Given the description of an element on the screen output the (x, y) to click on. 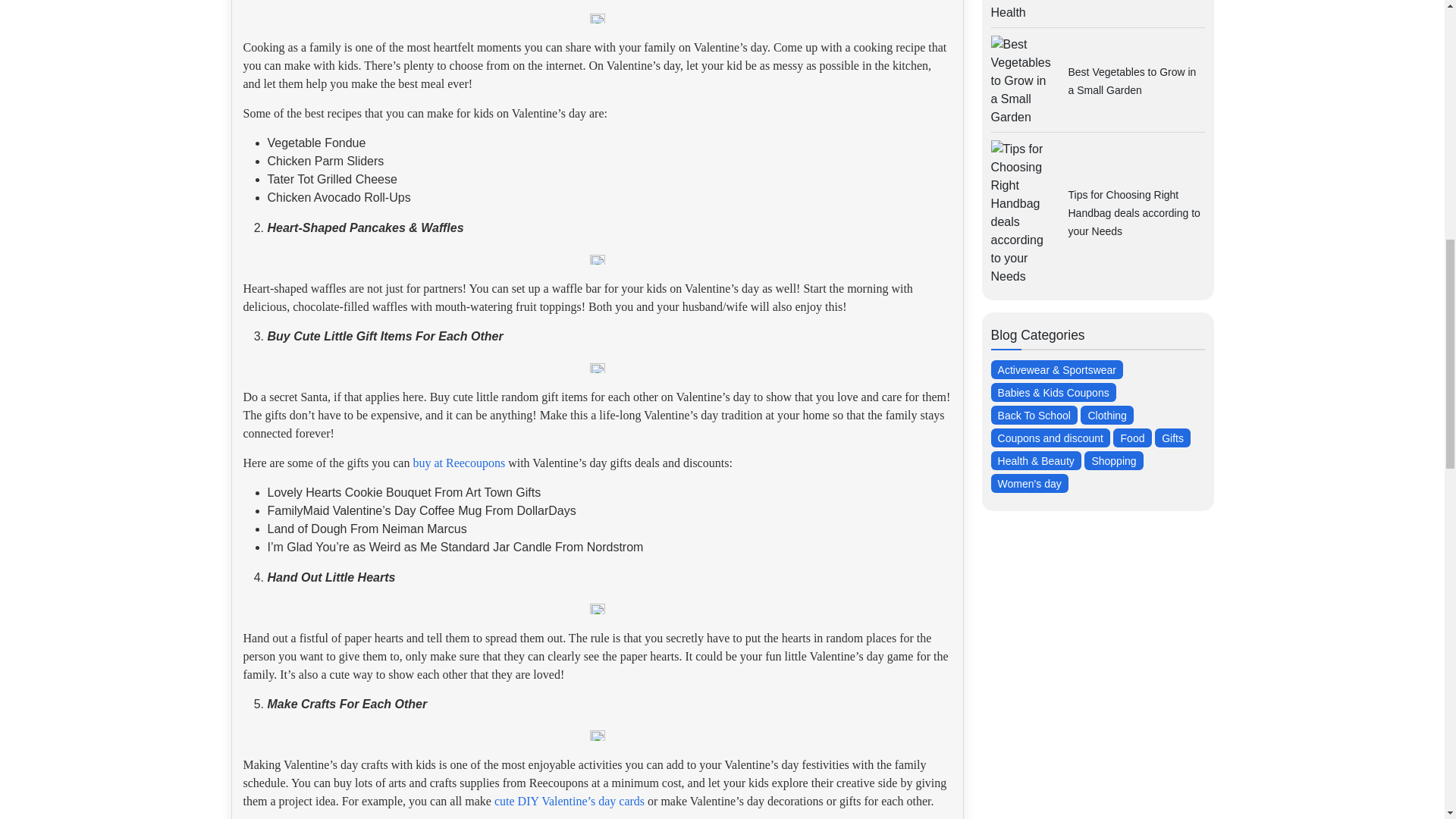
Best Vegetables to Grow in a Small Garden (1131, 81)
buy at Reecoupons (458, 462)
